Given the description of an element on the screen output the (x, y) to click on. 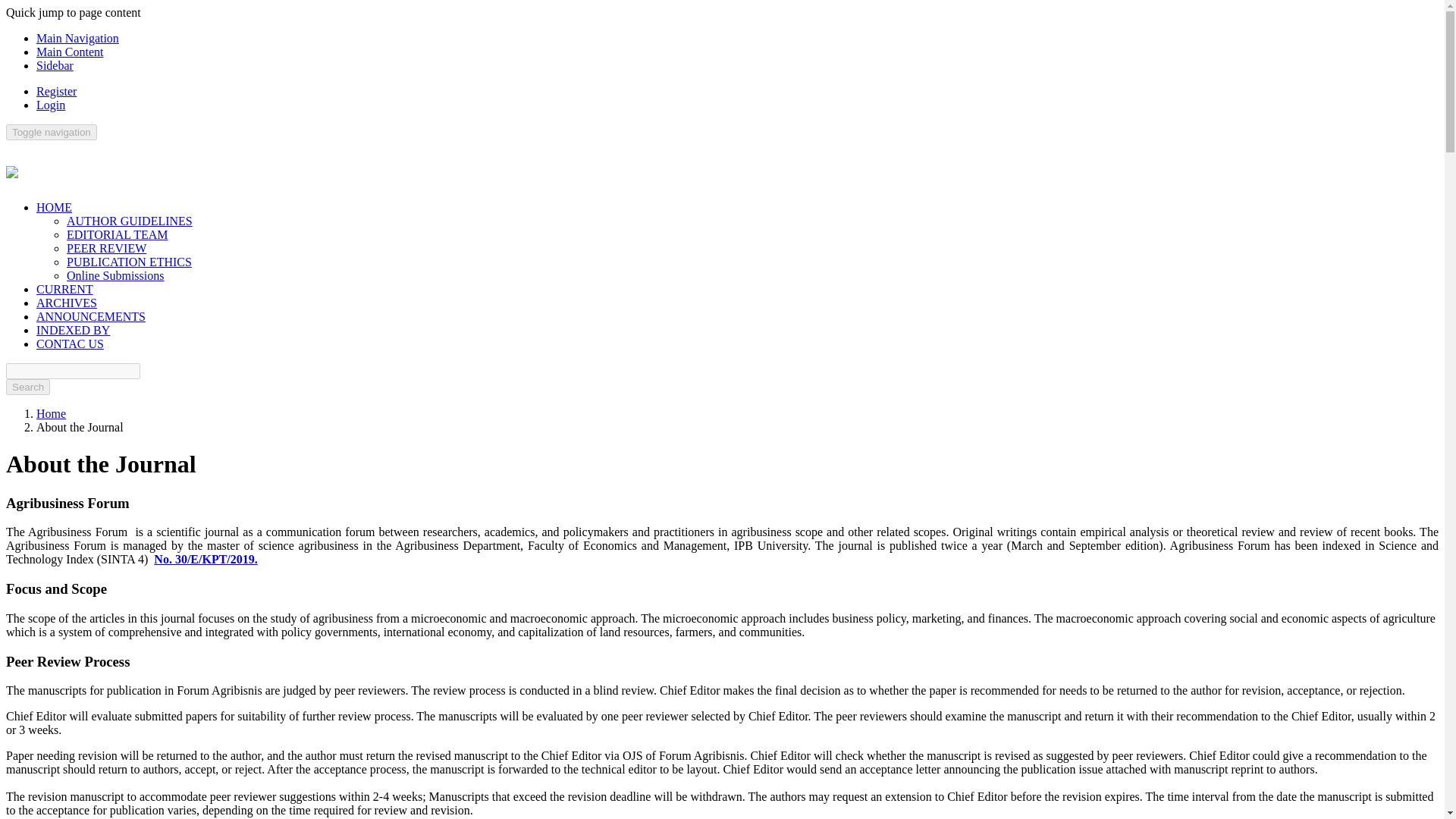
CONTAC US (69, 343)
Register (56, 91)
HOME (53, 206)
EDITORIAL TEAM (116, 234)
akreditasi SINTA (205, 558)
Login (50, 104)
CURRENT (64, 288)
Search (27, 386)
ANNOUNCEMENTS (90, 316)
Sidebar (55, 65)
AUTHOR GUIDELINES (129, 220)
INDEXED BY (73, 329)
Toggle navigation (51, 132)
ARCHIVES (66, 302)
Home (50, 413)
